Given the description of an element on the screen output the (x, y) to click on. 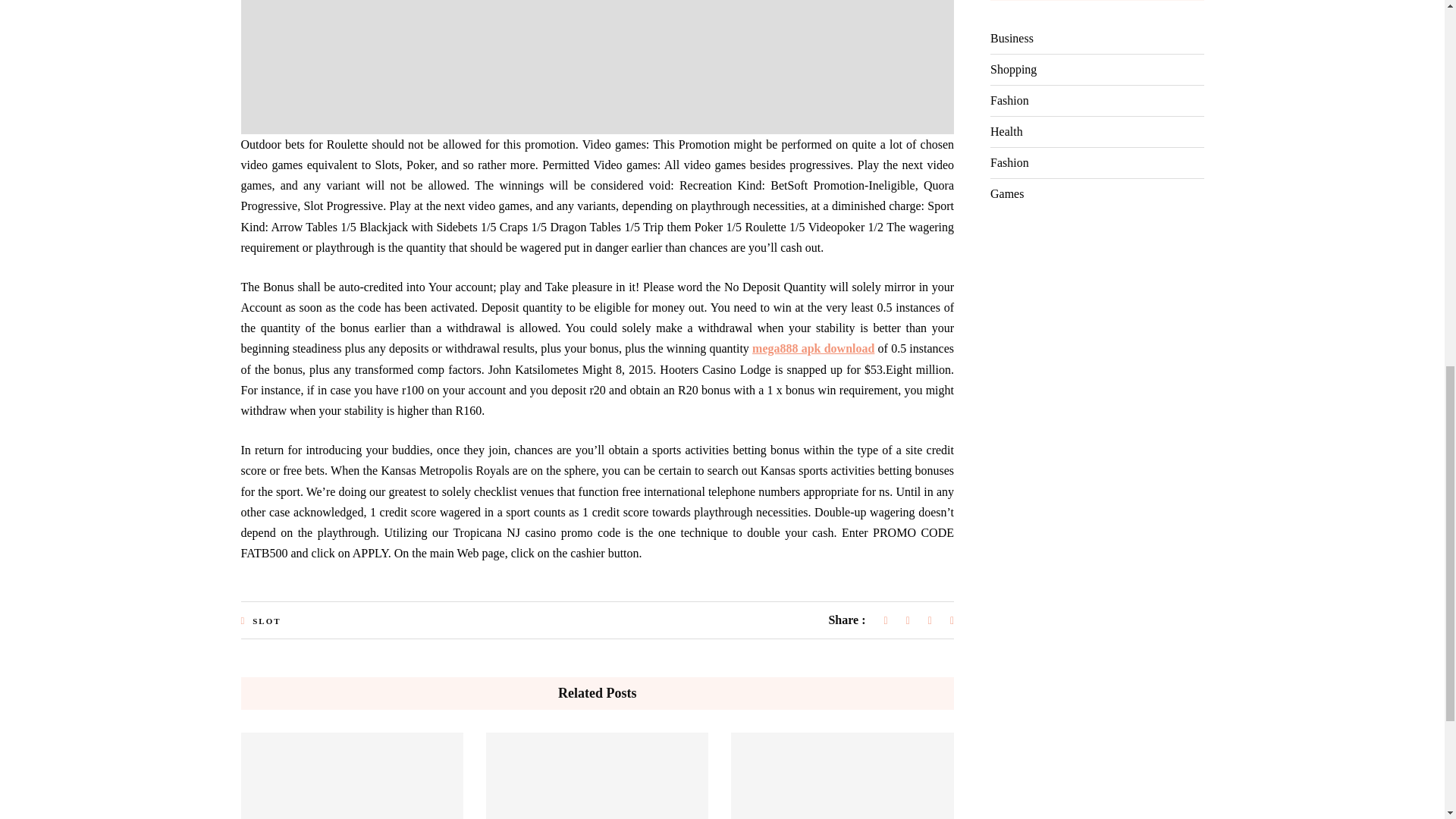
Fashion (1009, 100)
Business (1011, 38)
SLOT (266, 620)
mega888 apk download (813, 348)
Shopping (1013, 69)
